Given the description of an element on the screen output the (x, y) to click on. 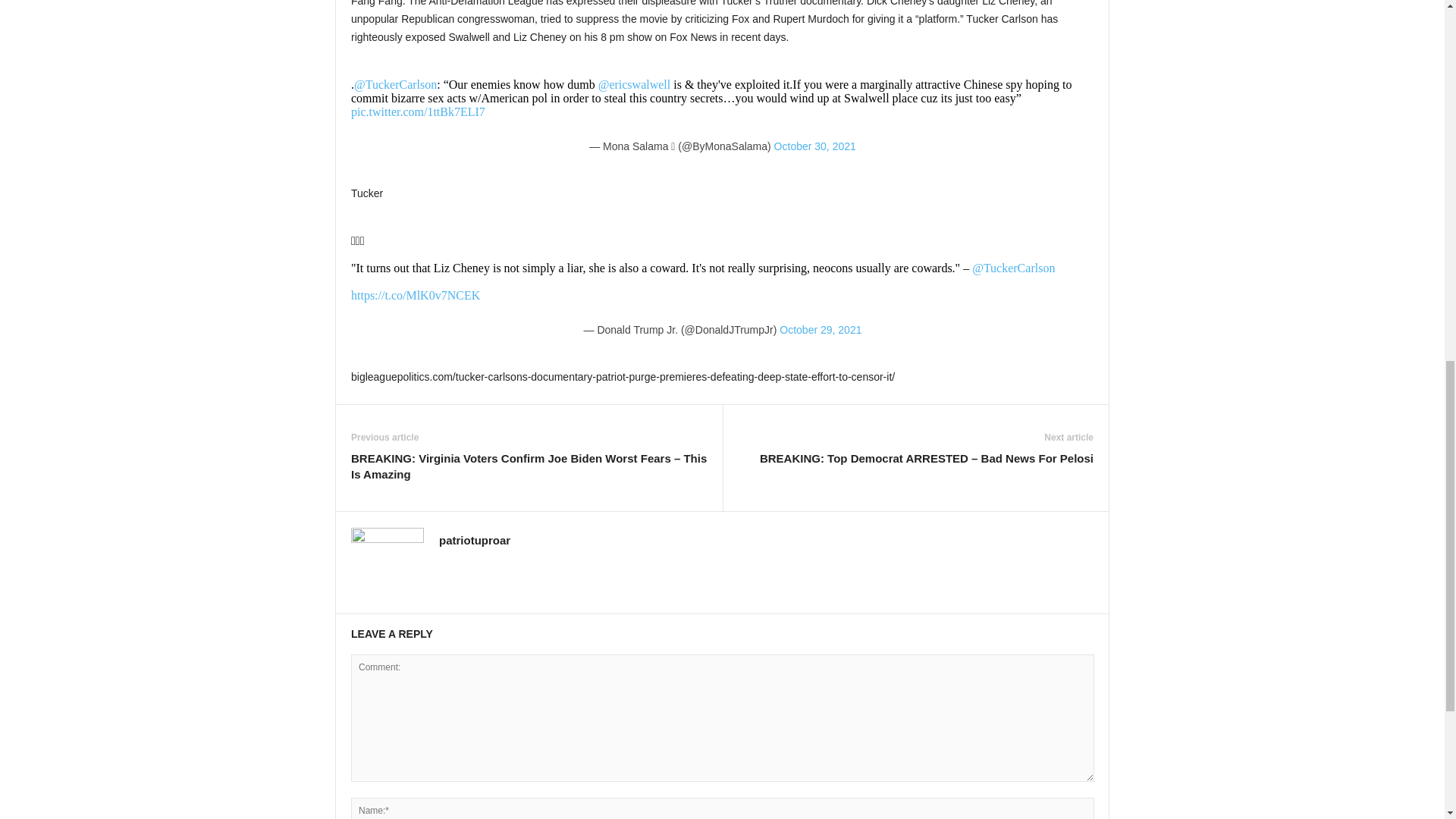
October 30, 2021 (815, 146)
October 29, 2021 (819, 329)
patriotuproar (475, 540)
